Given the description of an element on the screen output the (x, y) to click on. 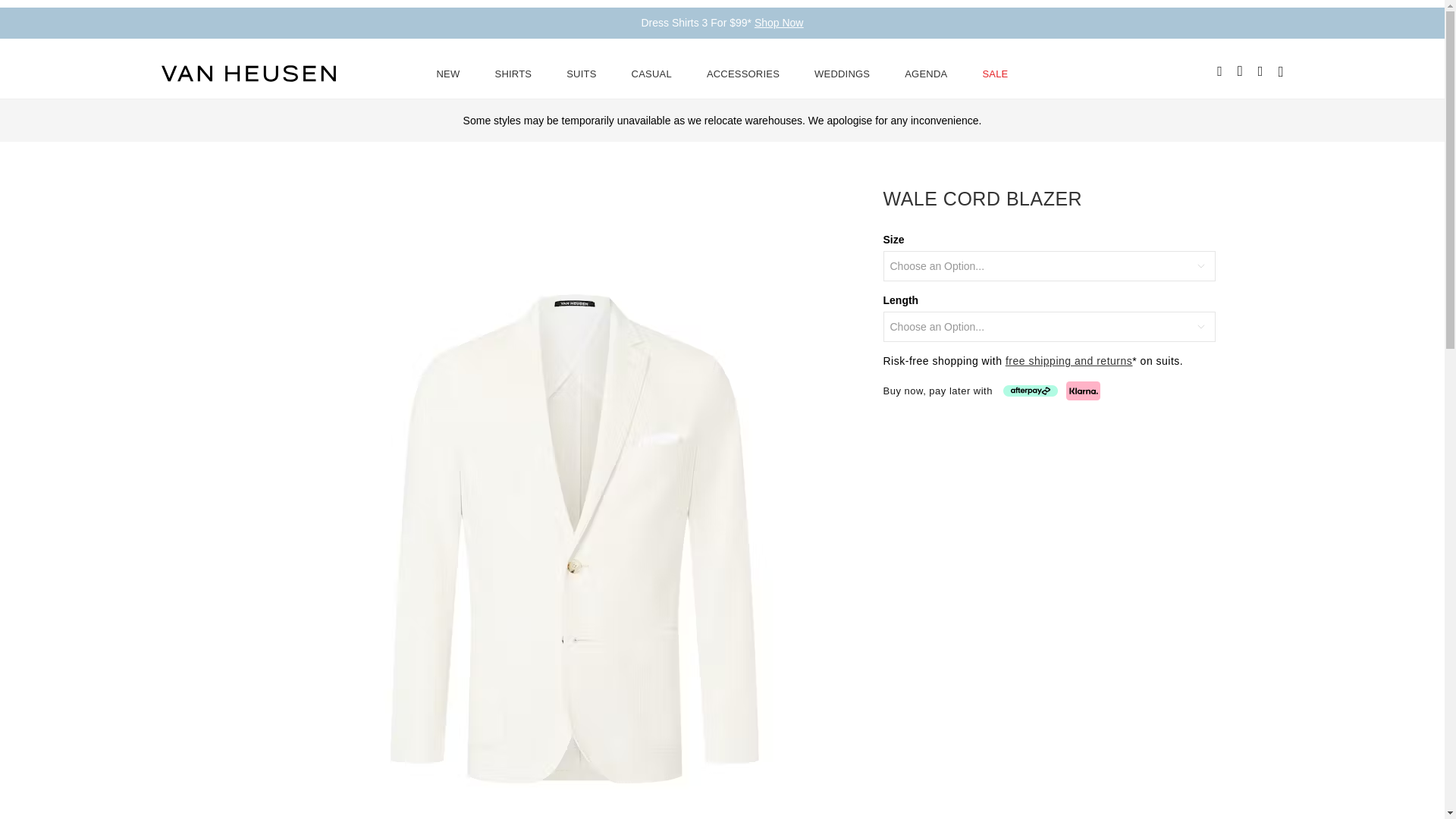
SUITS (580, 73)
SHIRTS (513, 73)
NEW (448, 73)
Shop Now (778, 22)
